Given the description of an element on the screen output the (x, y) to click on. 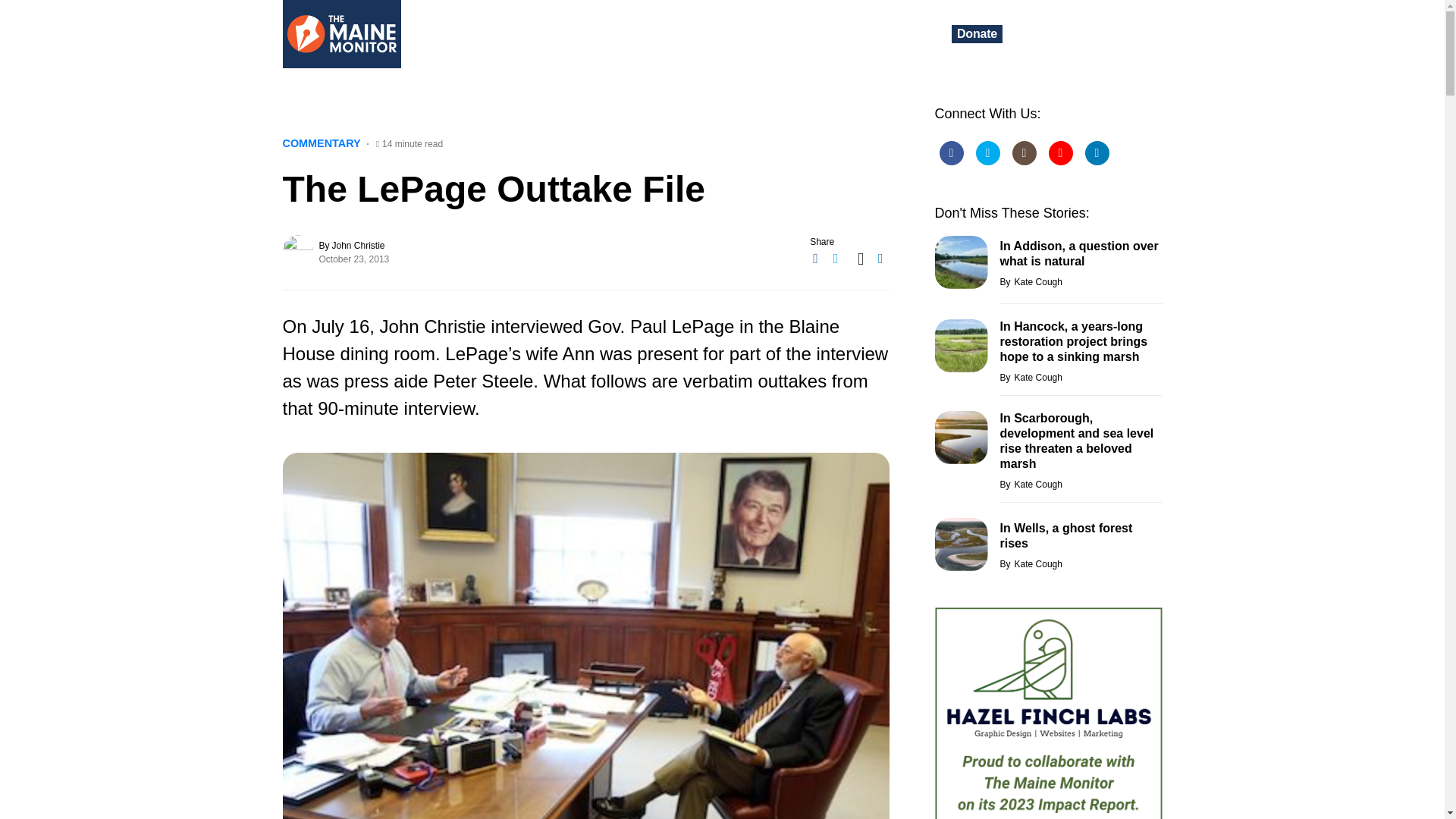
View all posts by Kate Cough (1029, 282)
Newsletters (819, 33)
View all posts by Kate Cough (1029, 377)
View all posts by Kate Cough (1029, 484)
View all posts by Kate Cough (1029, 563)
Elections 2024 (587, 33)
